Given the description of an element on the screen output the (x, y) to click on. 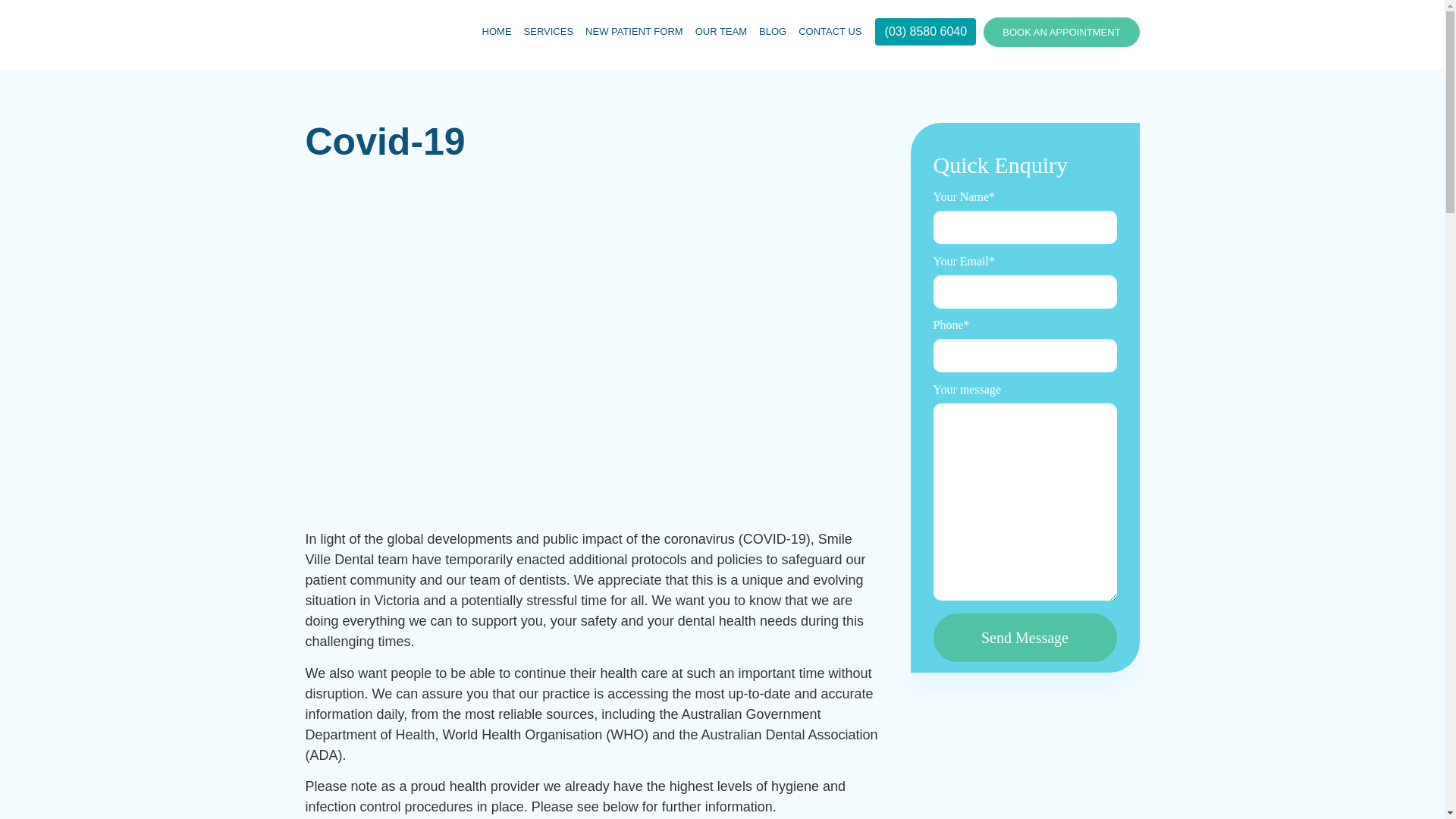
NEW PATIENT FORM (633, 31)
Send Message (1024, 637)
HOME (496, 31)
BLOG (772, 31)
OUR TEAM (720, 31)
BOOK AN APPOINTMENT (1061, 31)
CONTACT US (829, 31)
SERVICES (548, 31)
